Given the description of an element on the screen output the (x, y) to click on. 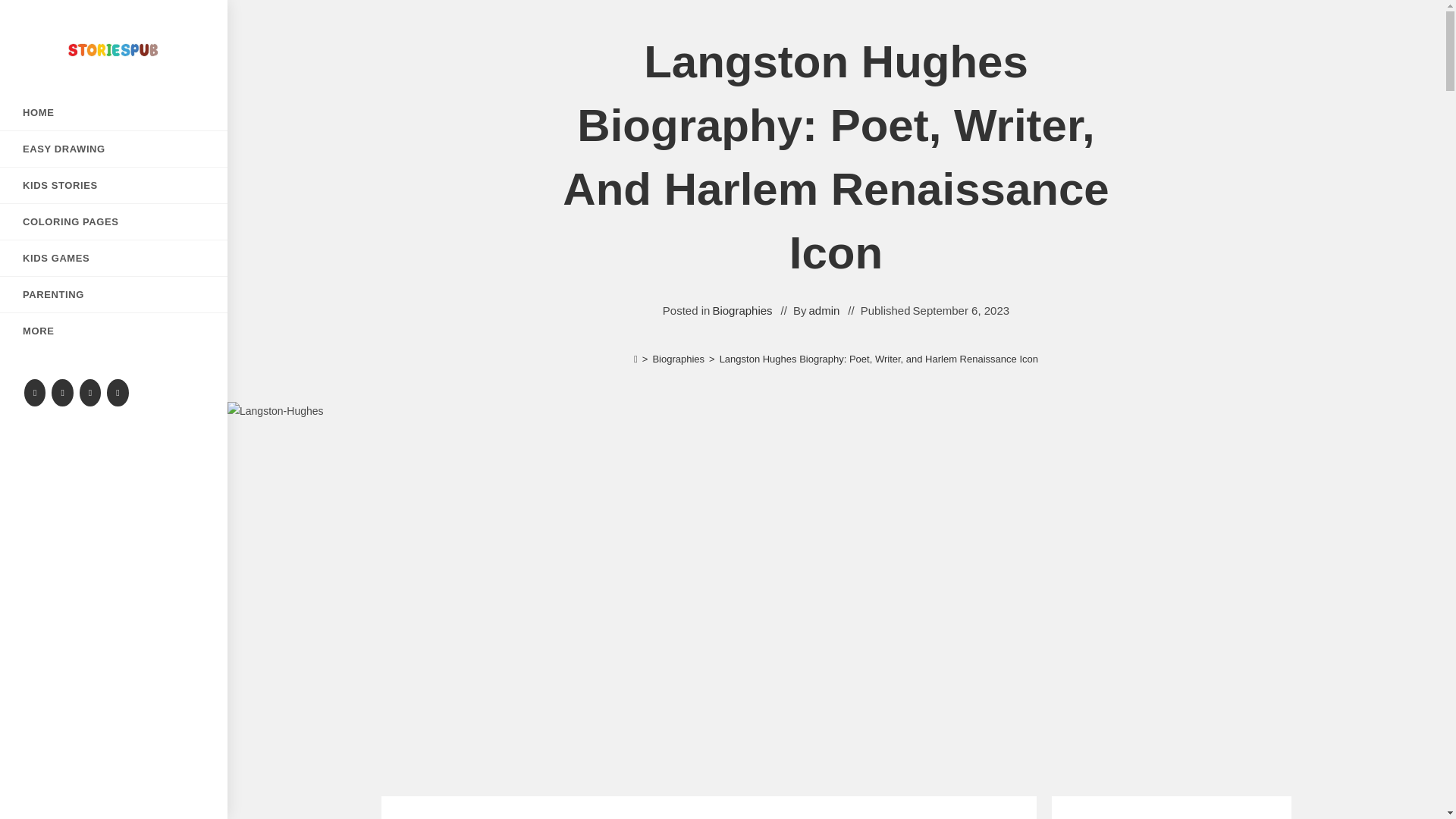
MORE (113, 330)
EASY DRAWING (113, 149)
KIDS GAMES (113, 258)
COLORING PAGES (113, 221)
KIDS STORIES (113, 185)
PARENTING (113, 294)
HOME (113, 112)
